Given the description of an element on the screen output the (x, y) to click on. 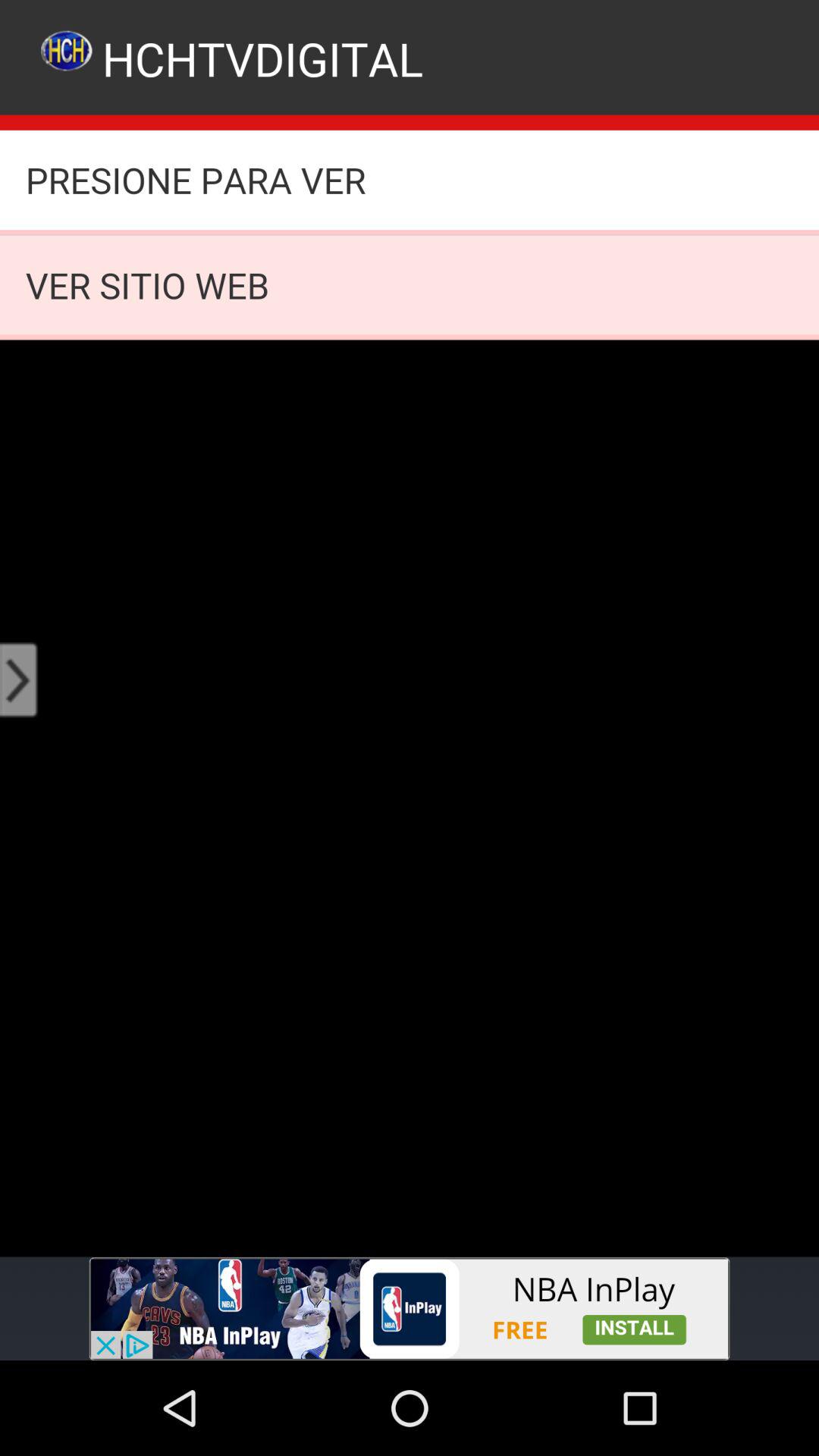
know about the advertisement (409, 1308)
